Given the description of an element on the screen output the (x, y) to click on. 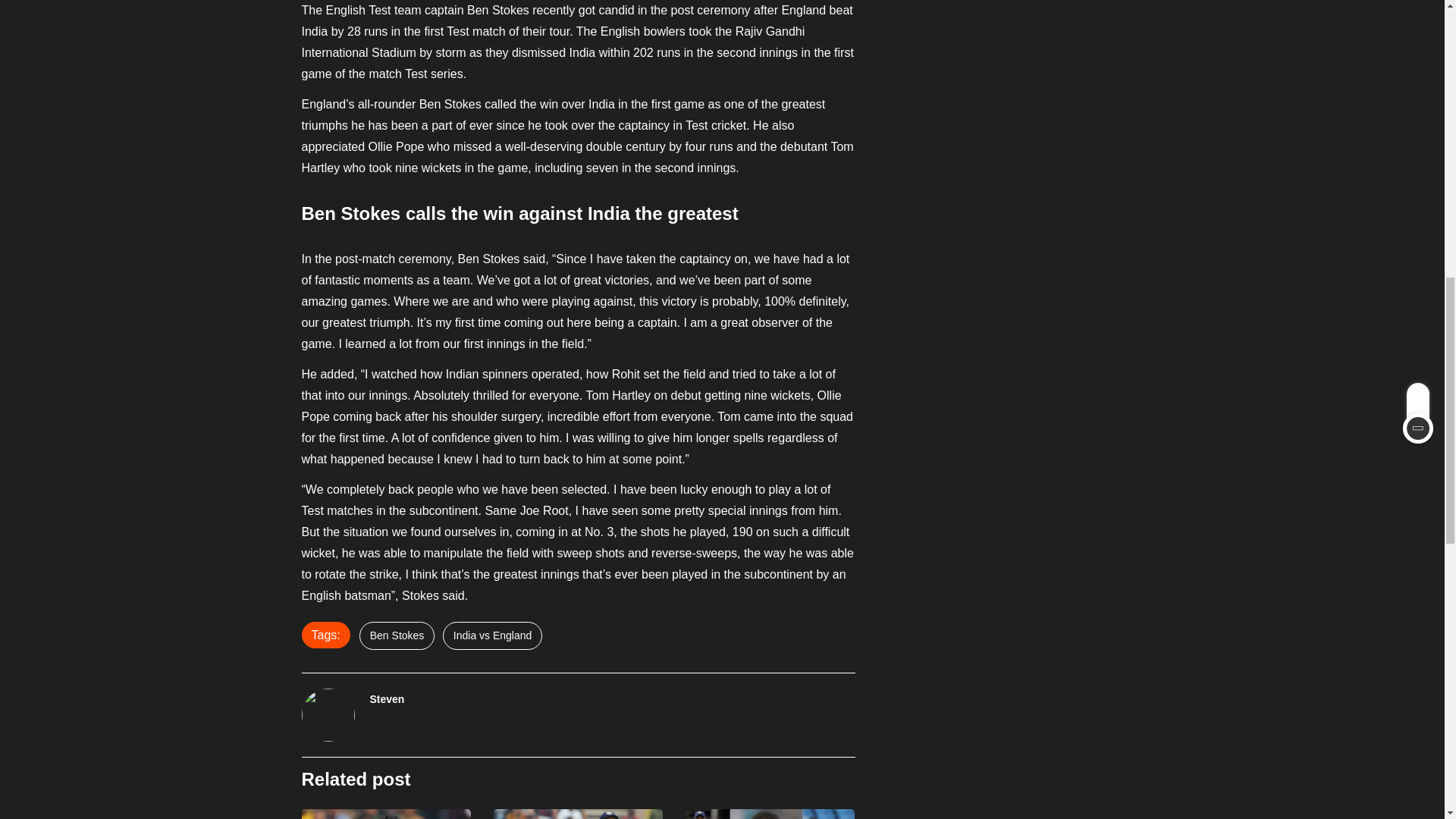
Ben Stokes (397, 635)
India vs England (492, 635)
